Given the description of an element on the screen output the (x, y) to click on. 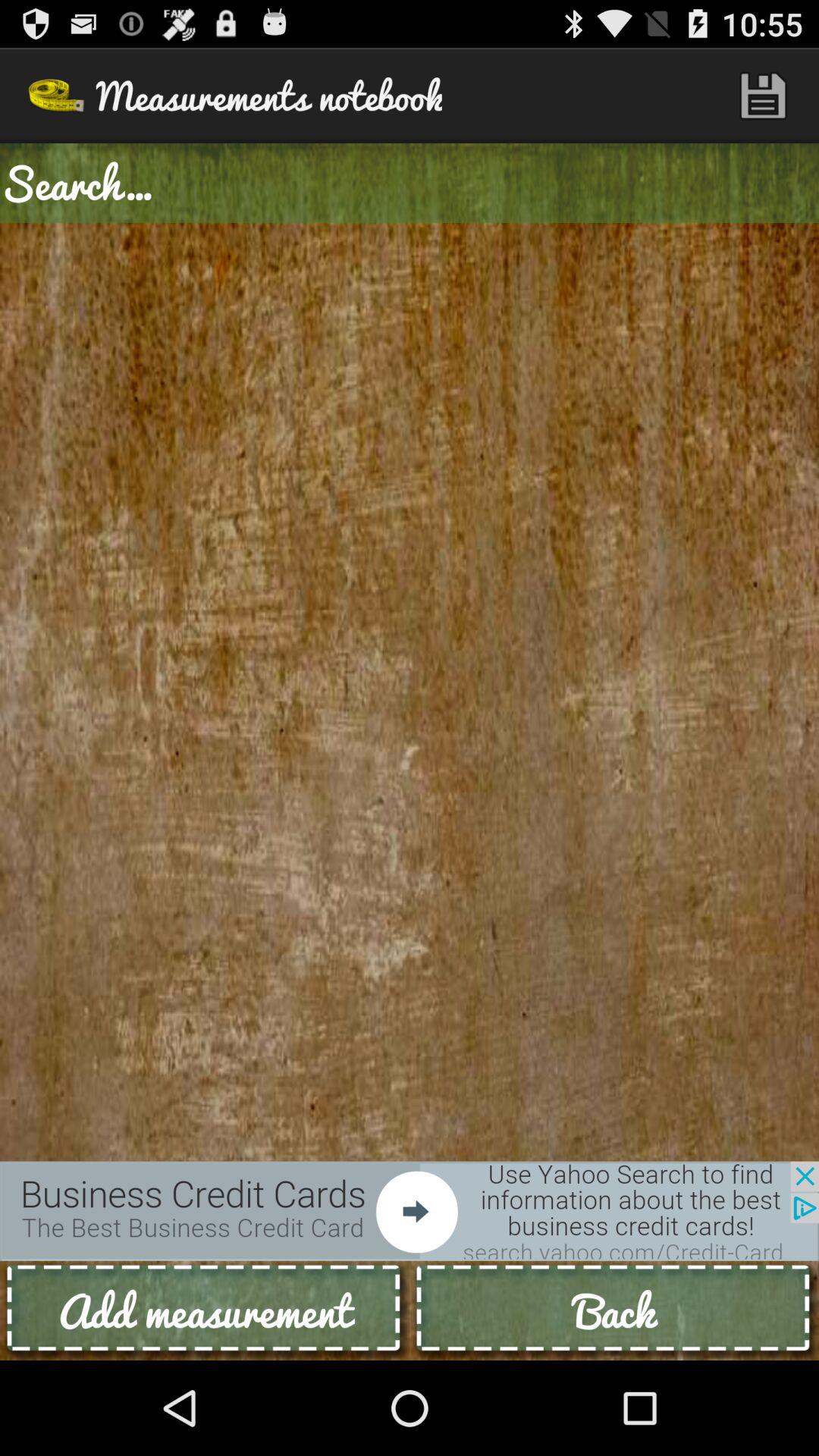
opens webpage (409, 1210)
